Given the description of an element on the screen output the (x, y) to click on. 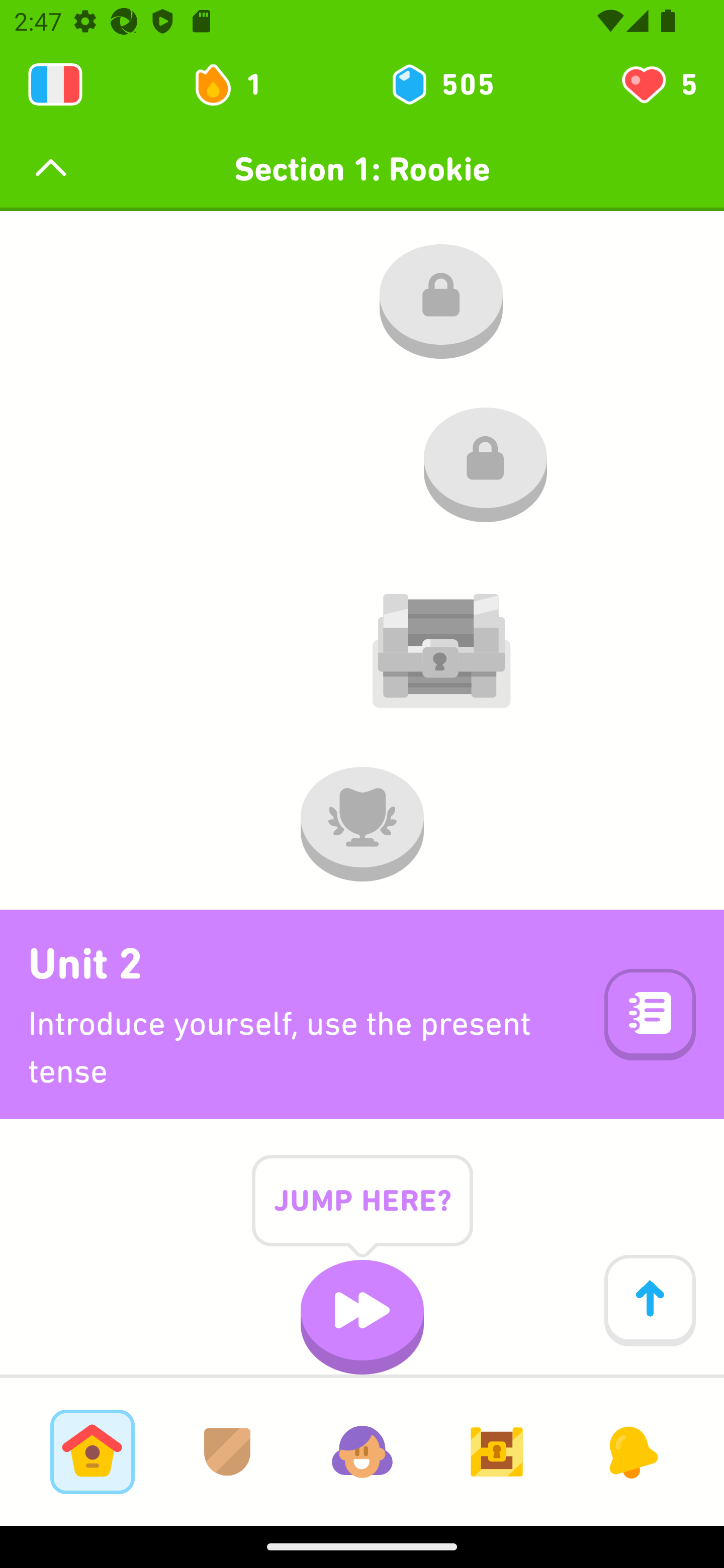
Learning 2131888976 (55, 84)
1 day streak 1 (236, 84)
505 (441, 84)
You have 5 hearts left 5 (657, 84)
Section 1: Rookie (362, 169)
JUMP HERE? (361, 1215)
Learn Tab (91, 1451)
Leagues Tab (227, 1451)
Profile Tab (361, 1451)
Goals Tab (496, 1451)
News Tab (631, 1451)
